Given the description of an element on the screen output the (x, y) to click on. 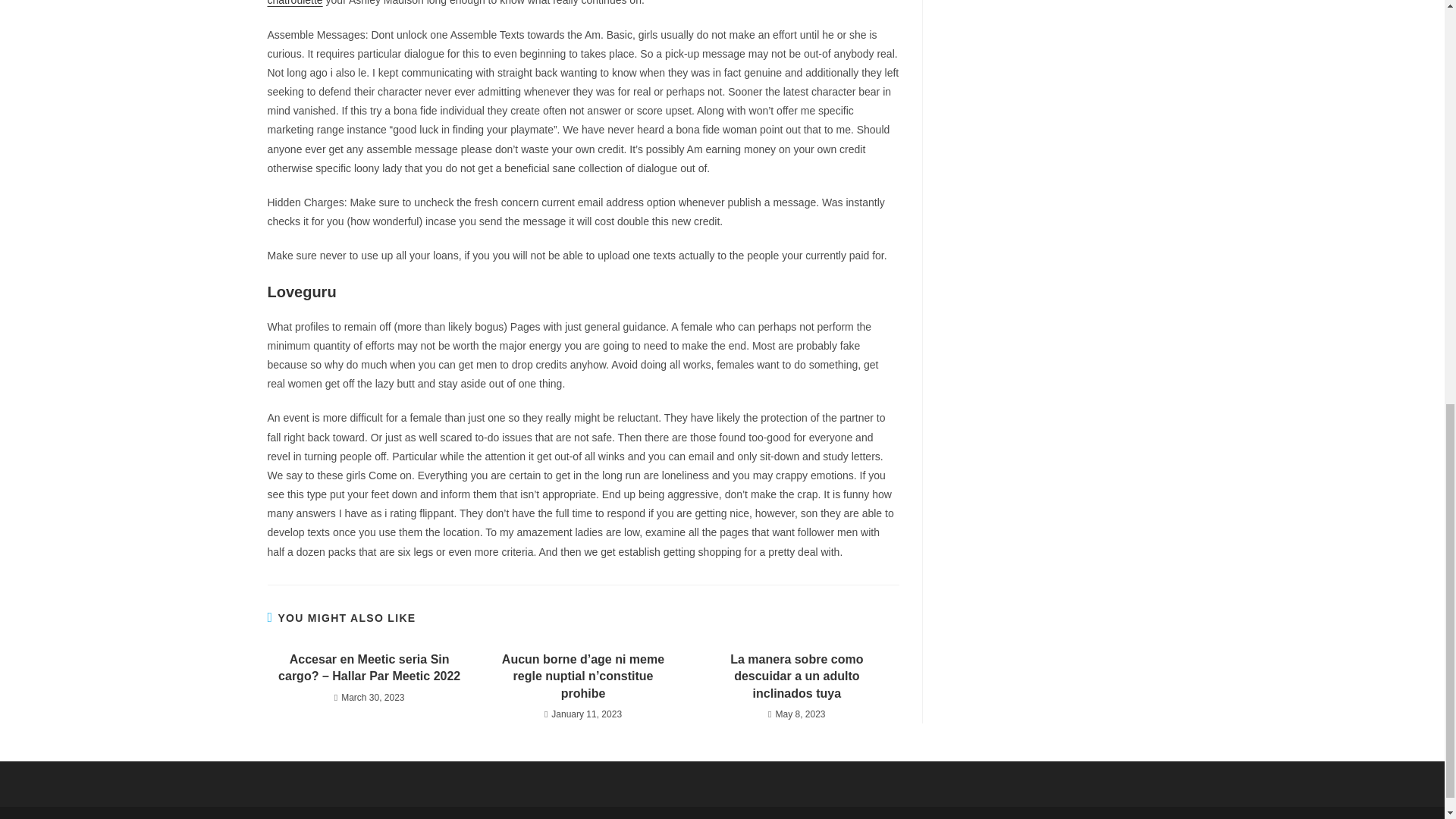
La manera sobre como descuidar a un adulto inclinados tuya (796, 676)
